Given the description of an element on the screen output the (x, y) to click on. 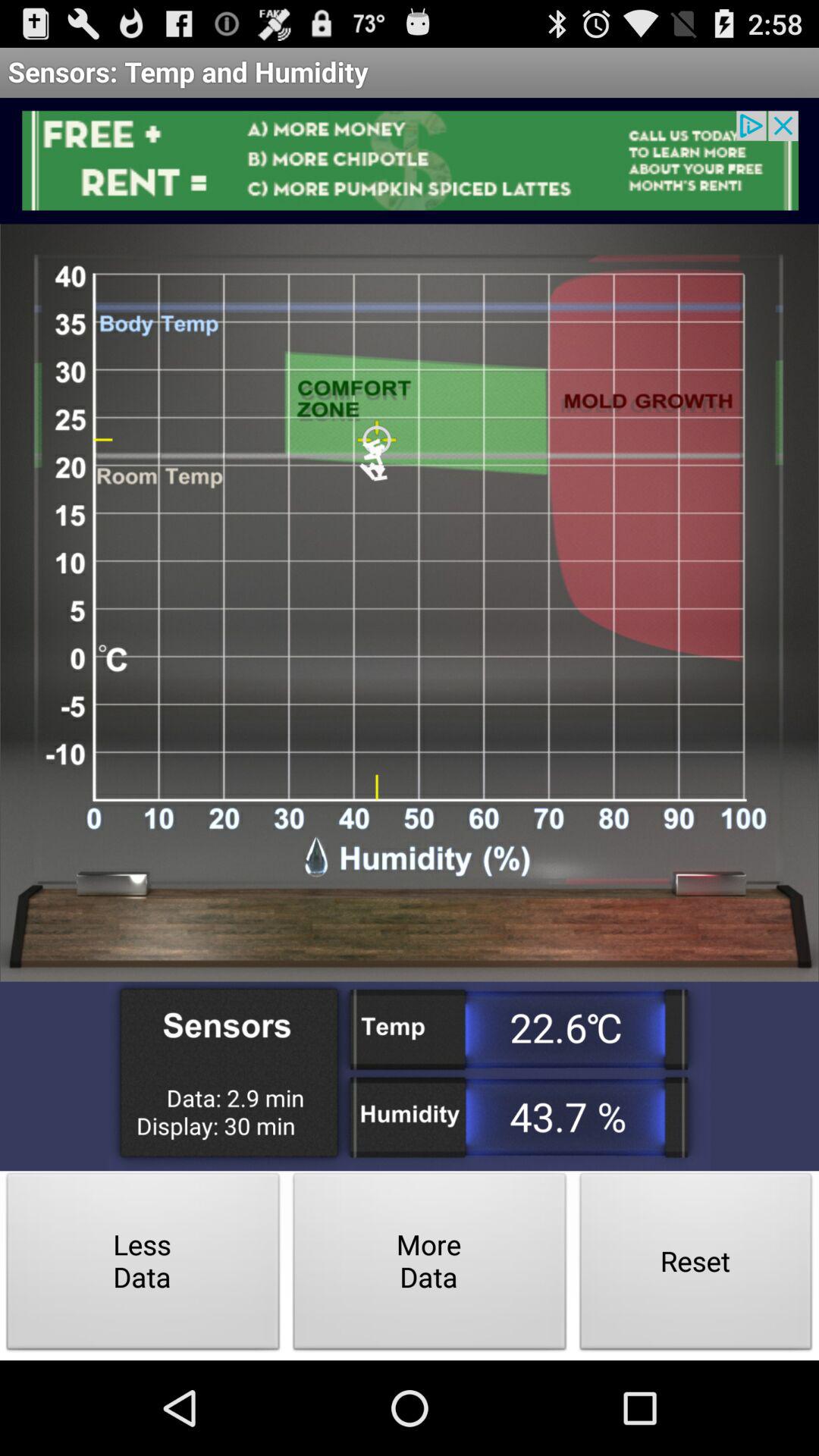
open the button next to reset icon (429, 1265)
